Given the description of an element on the screen output the (x, y) to click on. 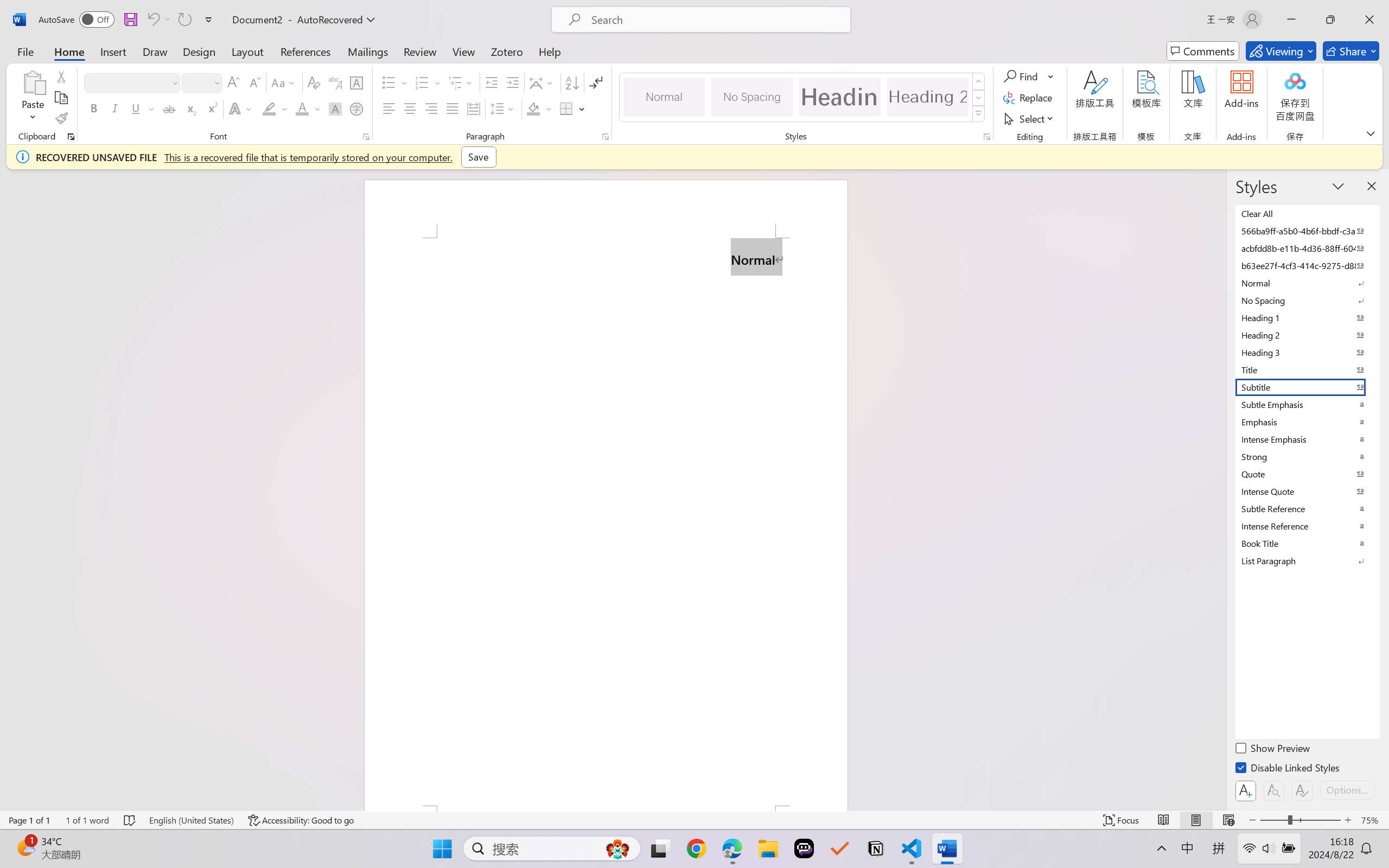
Multilevel List (461, 82)
Styles (978, 113)
Title (1306, 369)
Intense Emphasis (1306, 438)
Microsoft search (715, 19)
Office Clipboard... (70, 136)
